Given the description of an element on the screen output the (x, y) to click on. 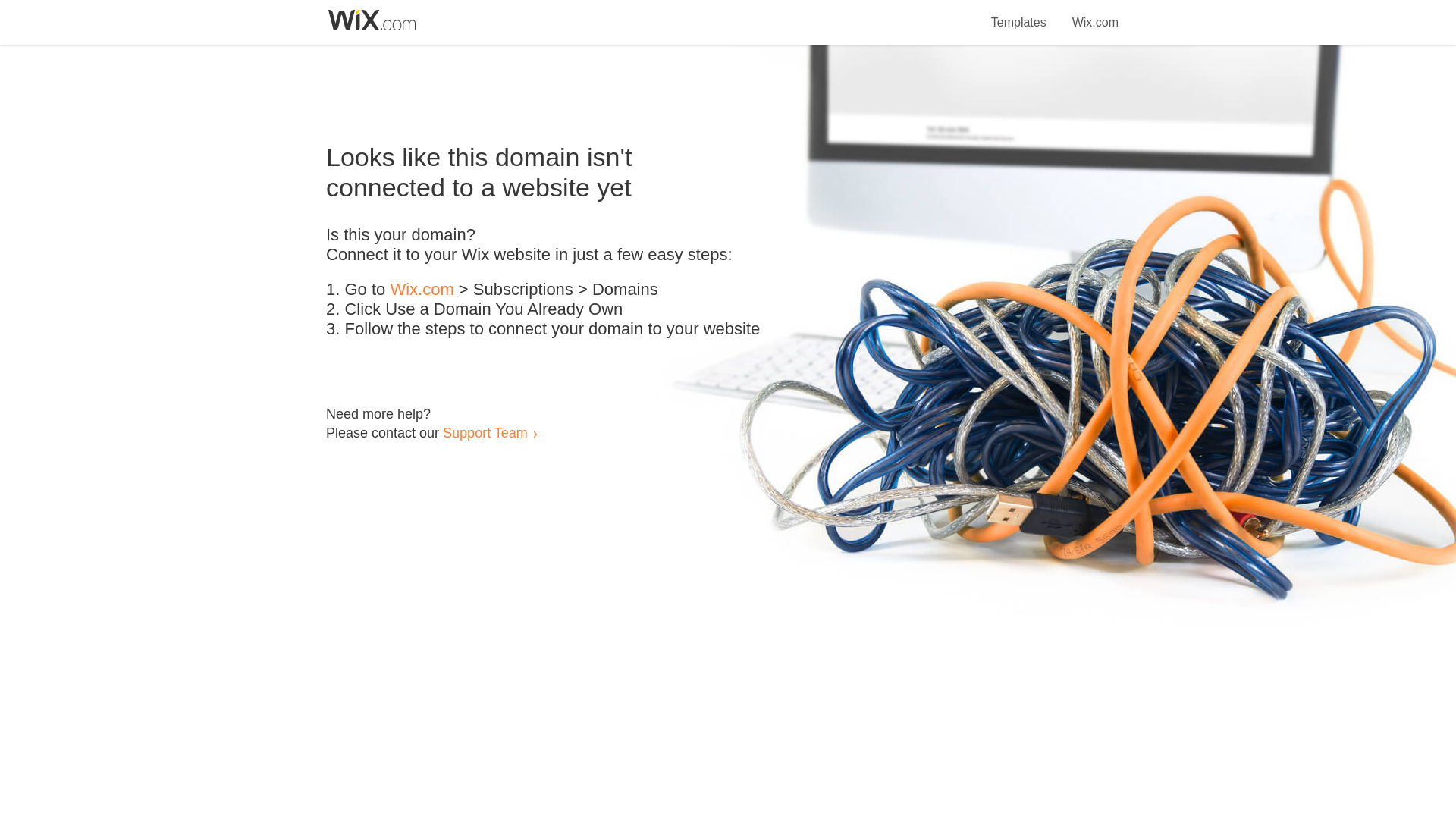
Support Team (484, 432)
Templates (1018, 14)
Wix.com (1095, 14)
Wix.com (421, 289)
